Given the description of an element on the screen output the (x, y) to click on. 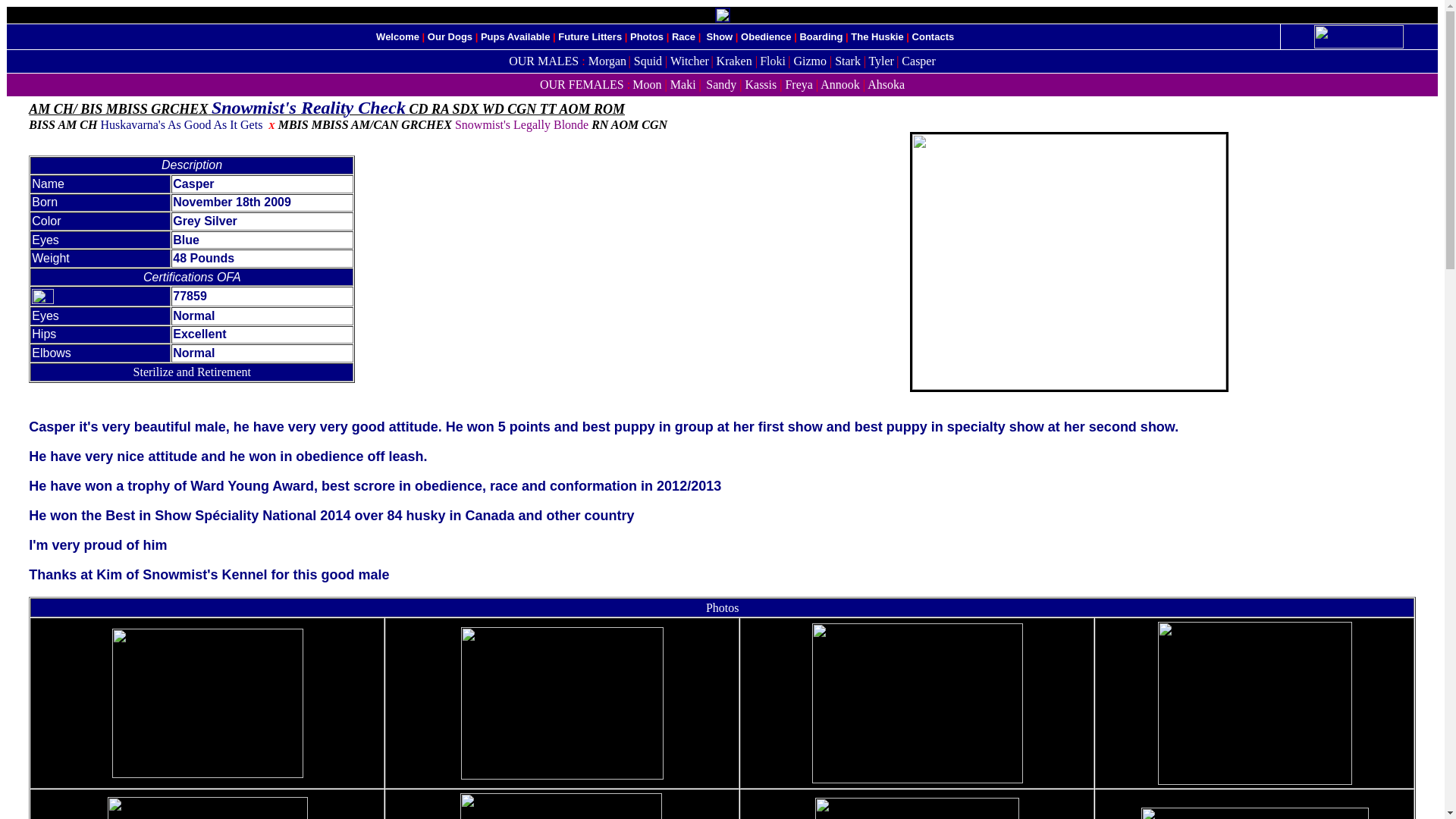
Witcher (689, 60)
Future Litters (589, 36)
Obedience (765, 36)
Our Dogs (449, 36)
Kraken (734, 60)
Maki (682, 84)
Annook (840, 83)
Morgan (607, 60)
Ahsoka (885, 83)
Kassis (760, 84)
